Given the description of an element on the screen output the (x, y) to click on. 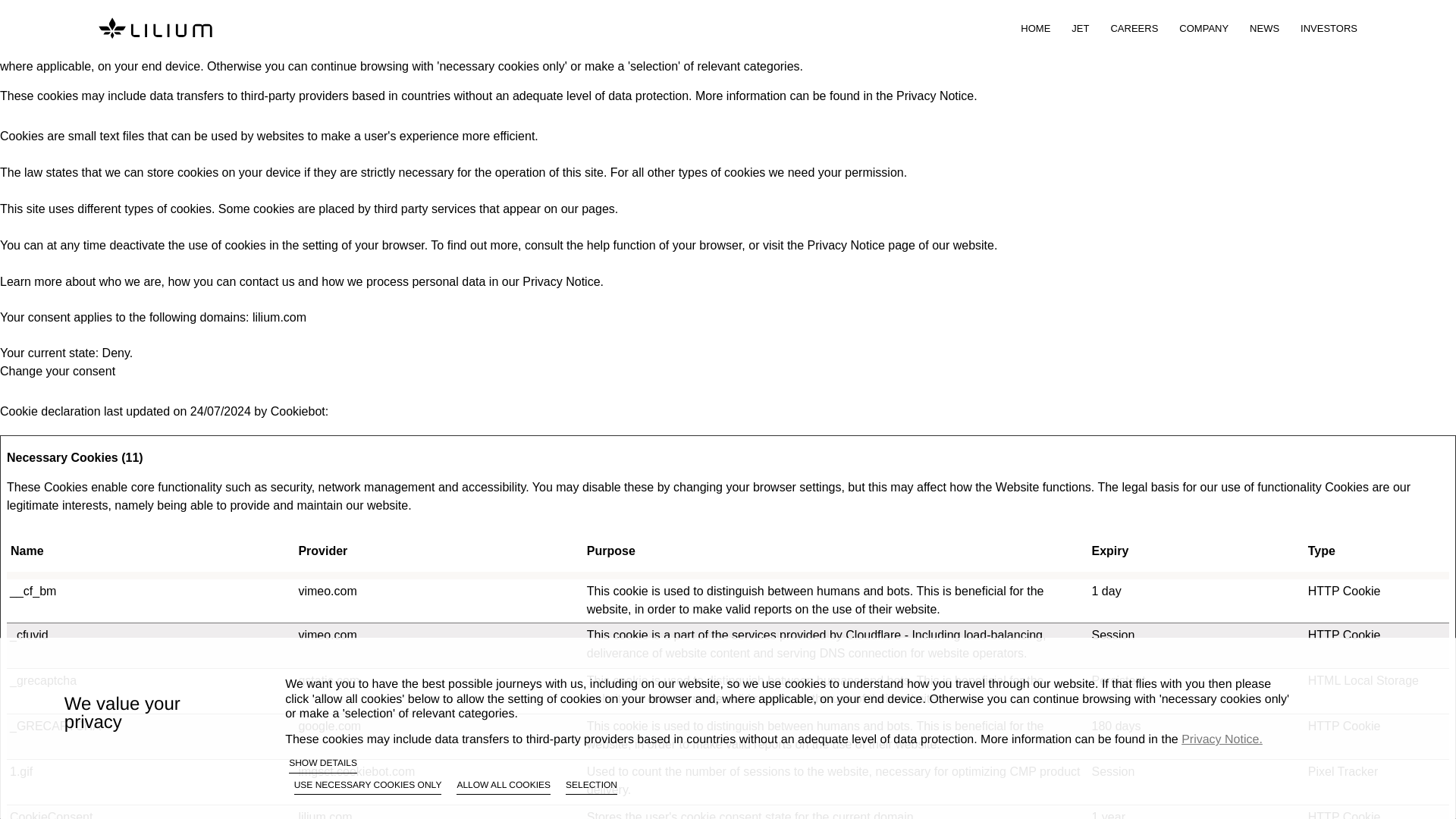
Privacy Notice. (936, 95)
SHOW DETAILS (322, 764)
SELECTION (591, 786)
Cookiebot (297, 410)
Privacy Notice (560, 281)
Cookiebot (297, 410)
Privacy Notice. (1221, 739)
Privacy Notice (846, 245)
ALLOW ALL COOKIES (503, 786)
USE NECESSARY COOKIES ONLY (368, 786)
Change your consent (57, 370)
